Given the description of an element on the screen output the (x, y) to click on. 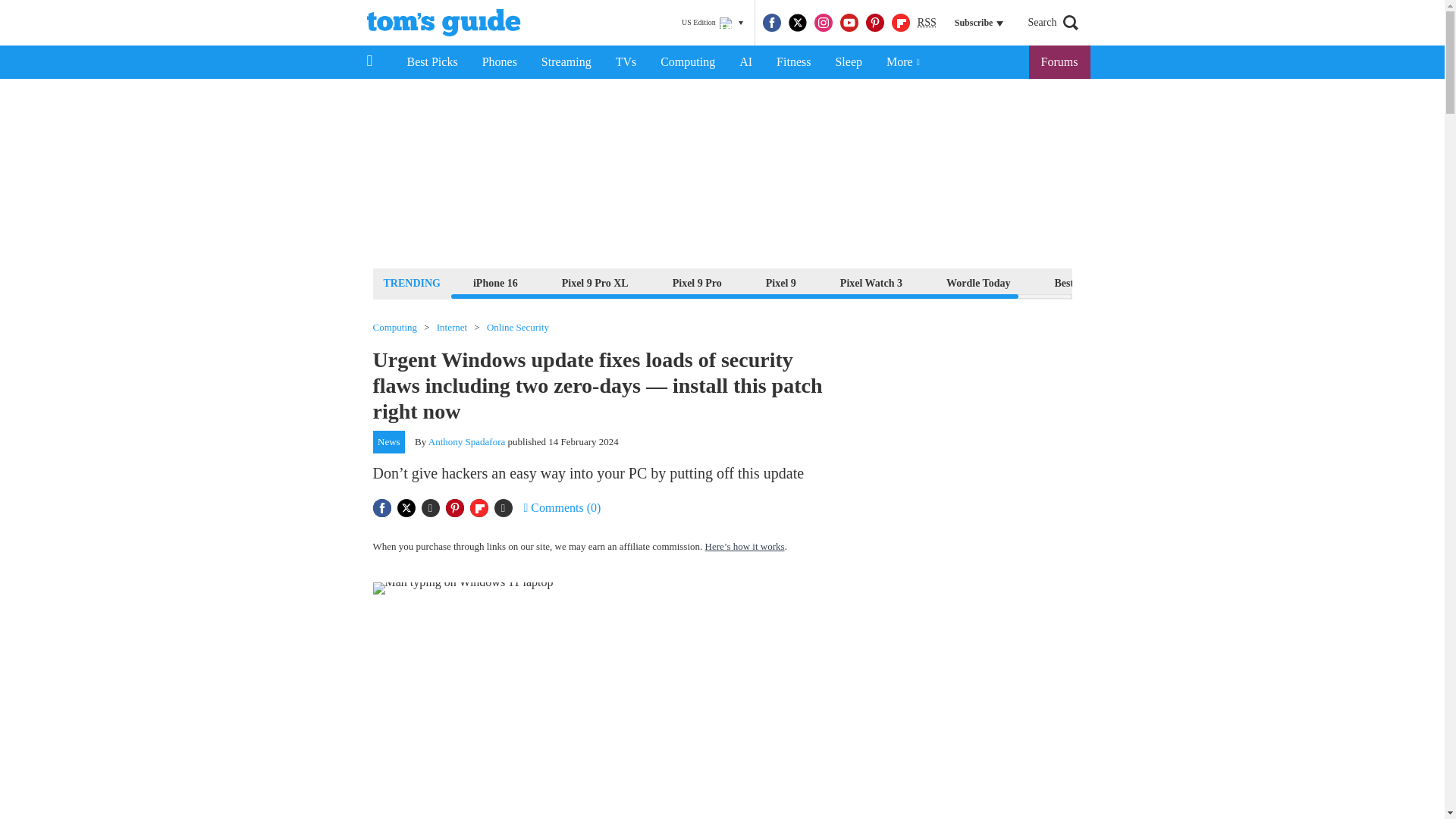
Really Simple Syndication (926, 21)
US Edition (712, 22)
Best Picks (431, 61)
Streaming (566, 61)
Fitness (793, 61)
Computing (686, 61)
AI (745, 61)
Sleep (848, 61)
Phones (499, 61)
RSS (926, 22)
